Given the description of an element on the screen output the (x, y) to click on. 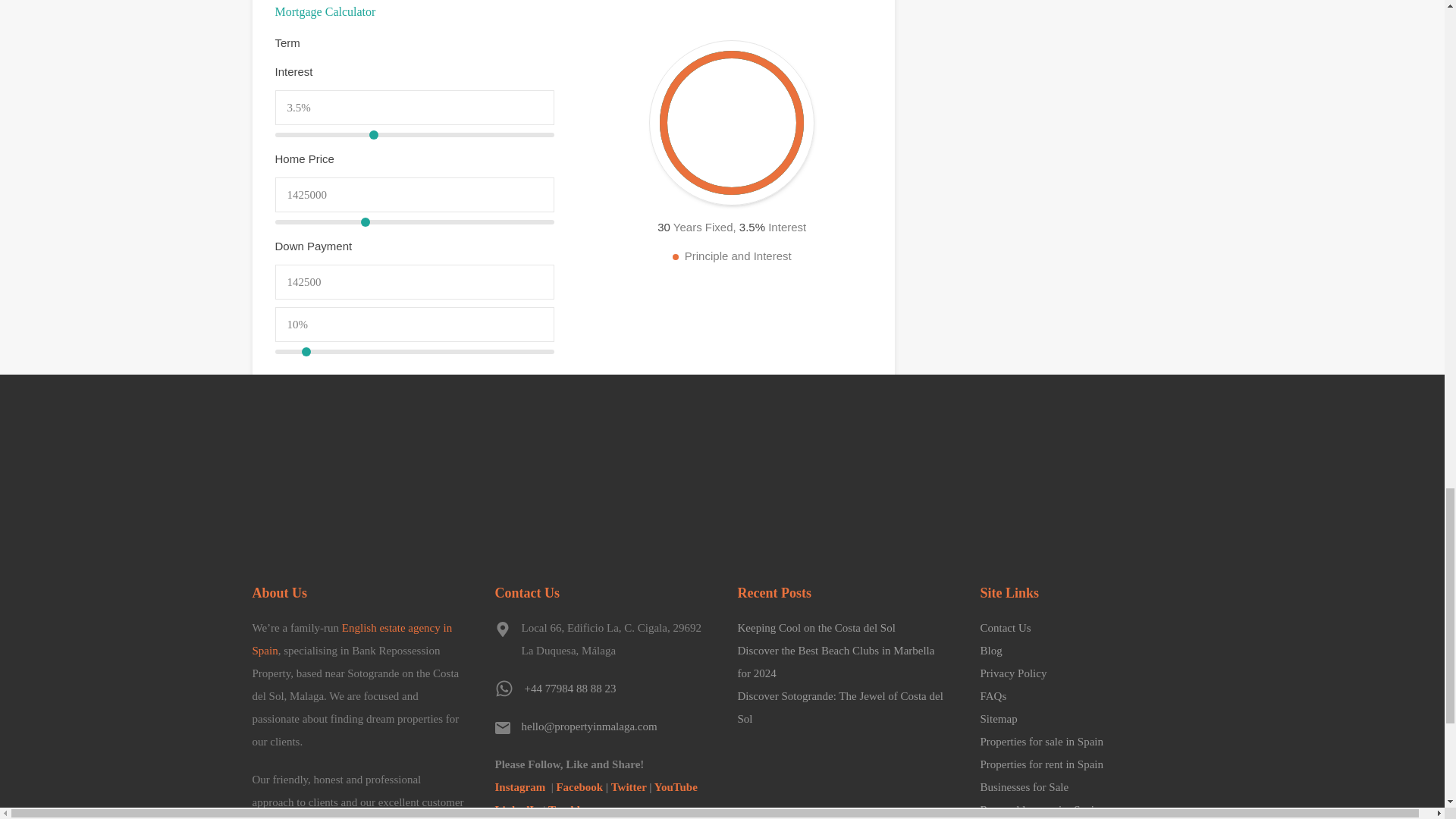
3.5 (414, 134)
142500 (414, 281)
Property in Malaga (351, 479)
1425000 (414, 194)
10 (414, 351)
1425000 (414, 222)
